Given the description of an element on the screen output the (x, y) to click on. 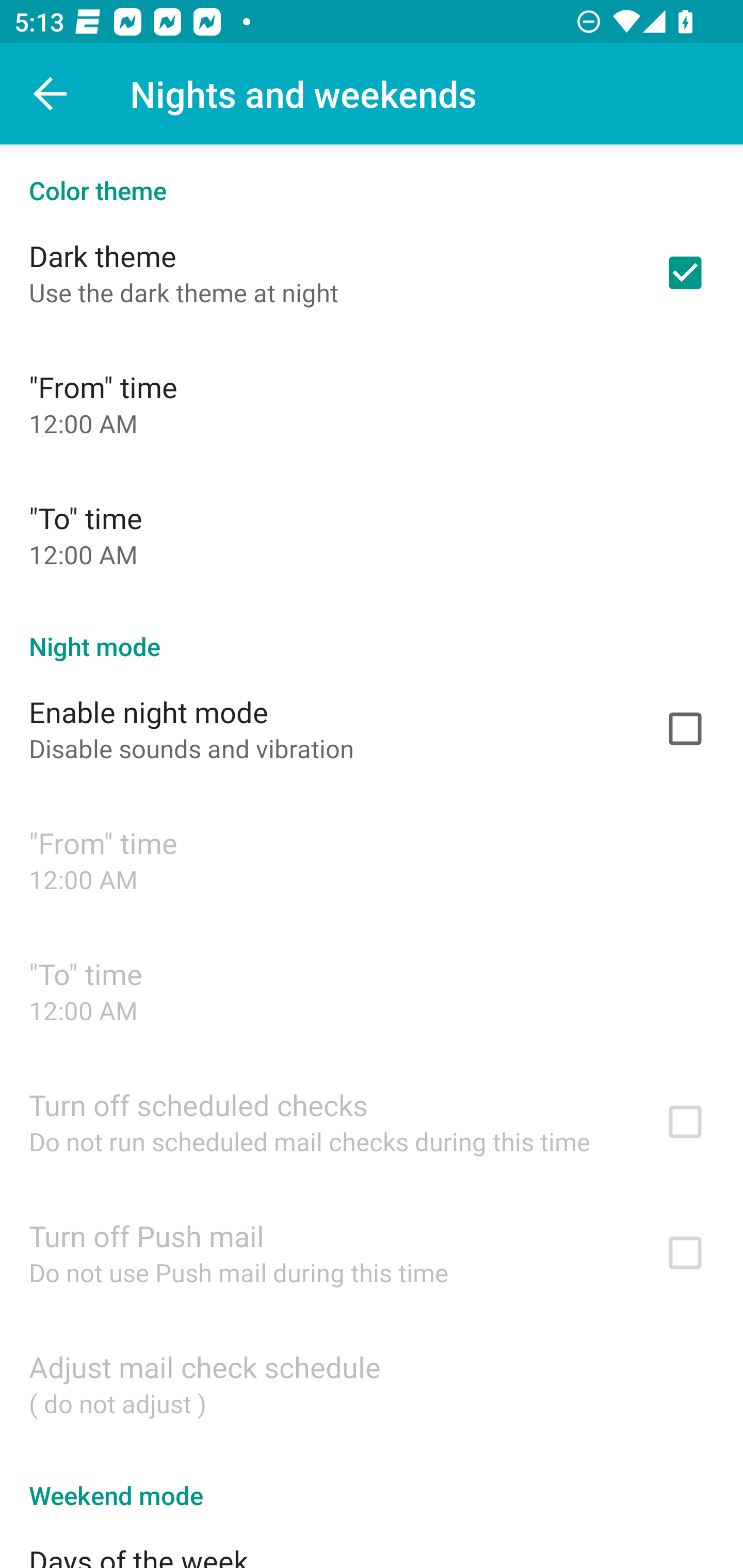
Navigate up (50, 93)
Dark theme Use the dark theme at night (371, 272)
"From" time 12:00 AM (371, 403)
"To" time 12:00 AM (371, 534)
Enable night mode Disable sounds and vibration (371, 728)
"From" time 12:00 AM (371, 859)
"To" time 12:00 AM (371, 990)
Adjust mail check schedule ( do not adjust ) (371, 1383)
